Given the description of an element on the screen output the (x, y) to click on. 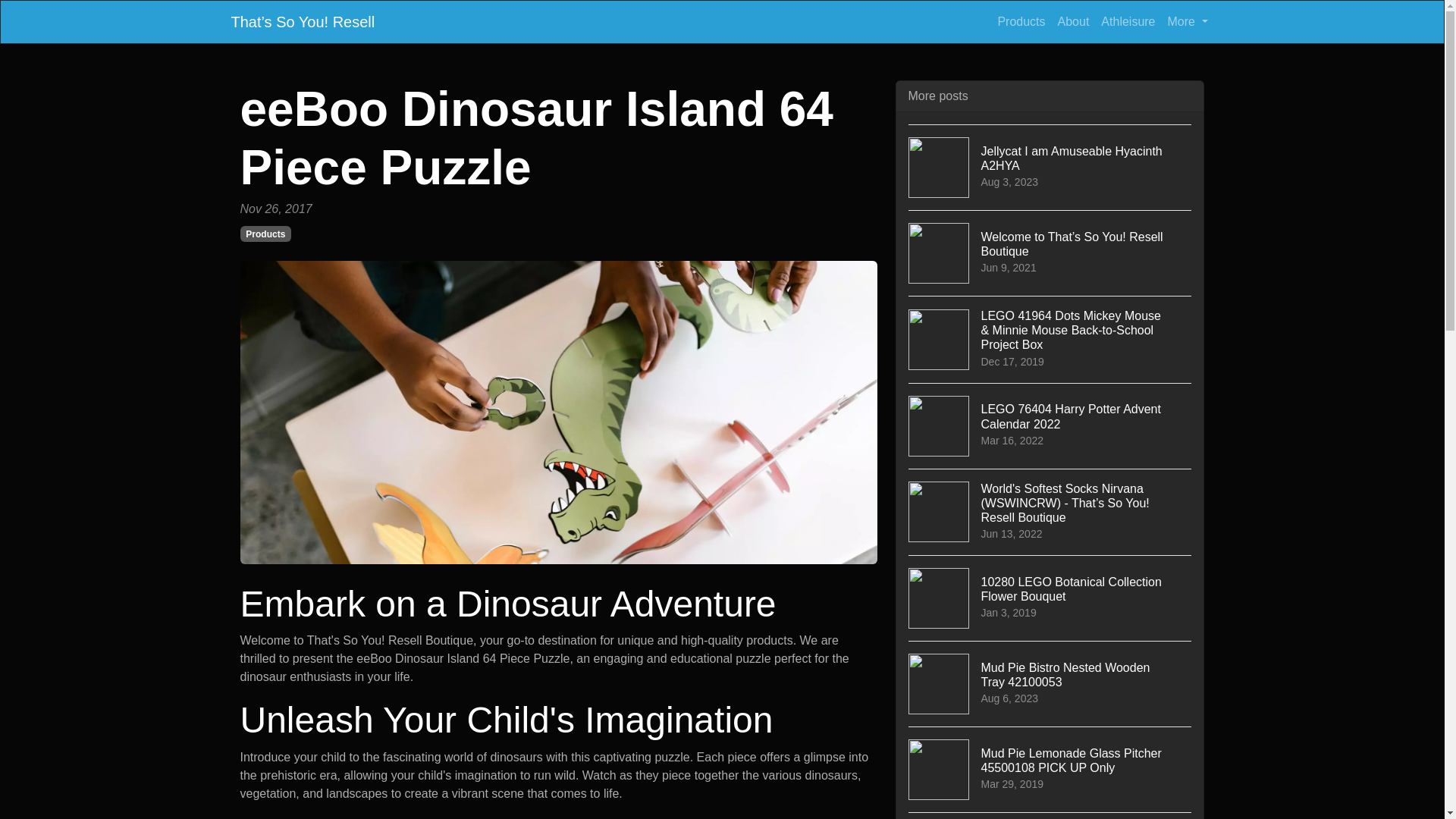
Products (265, 233)
Athleisure (1050, 597)
More (1050, 425)
Products (1127, 21)
About (1187, 21)
